Given the description of an element on the screen output the (x, y) to click on. 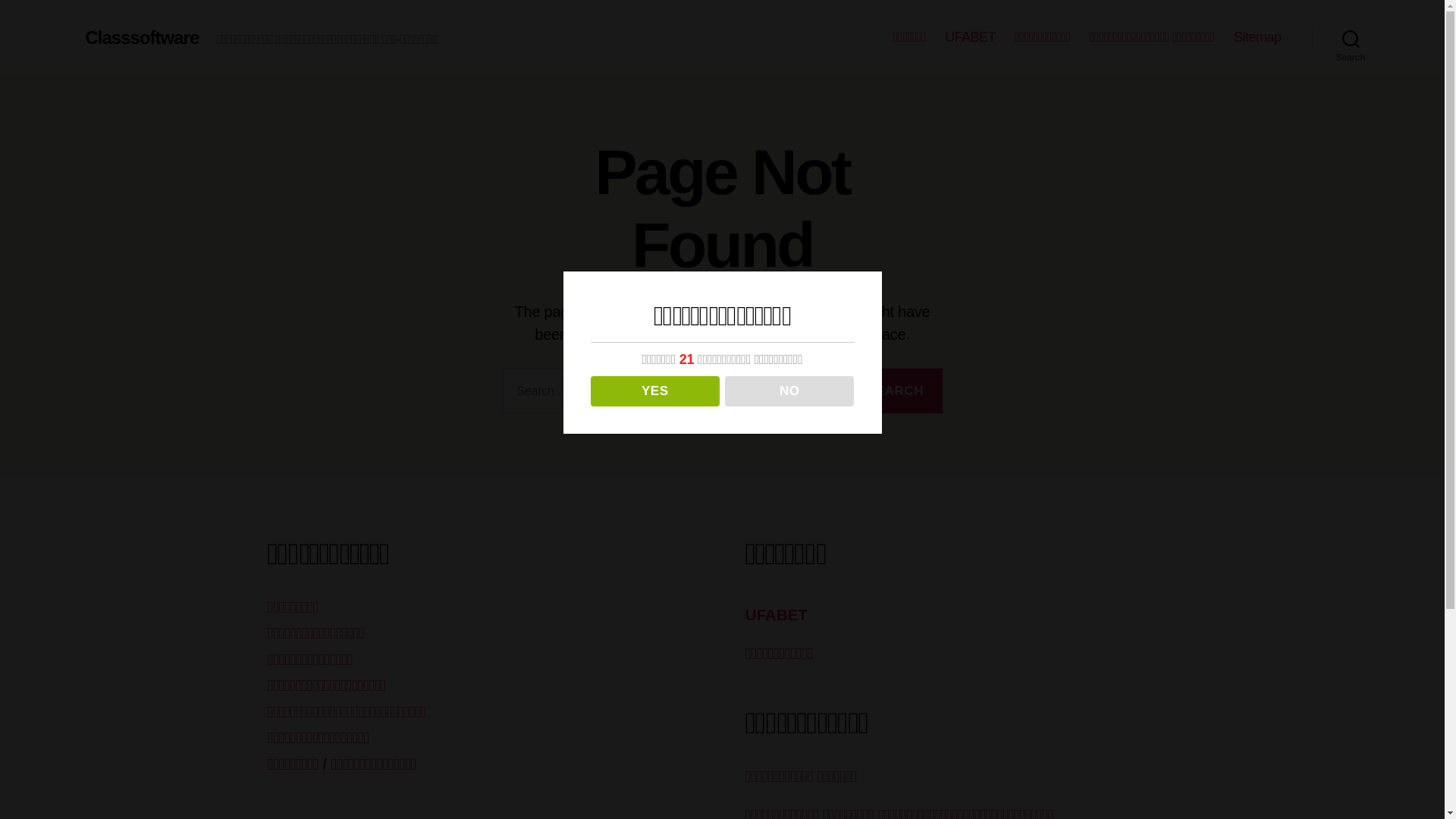
Search Element type: text (894, 390)
Search Element type: text (1350, 37)
UFABET Element type: text (969, 37)
Classsoftware Element type: text (141, 37)
UFABET Element type: text (775, 614)
NO Element type: text (789, 391)
YES Element type: text (655, 391)
Sitemap Element type: text (1257, 37)
